Given the description of an element on the screen output the (x, y) to click on. 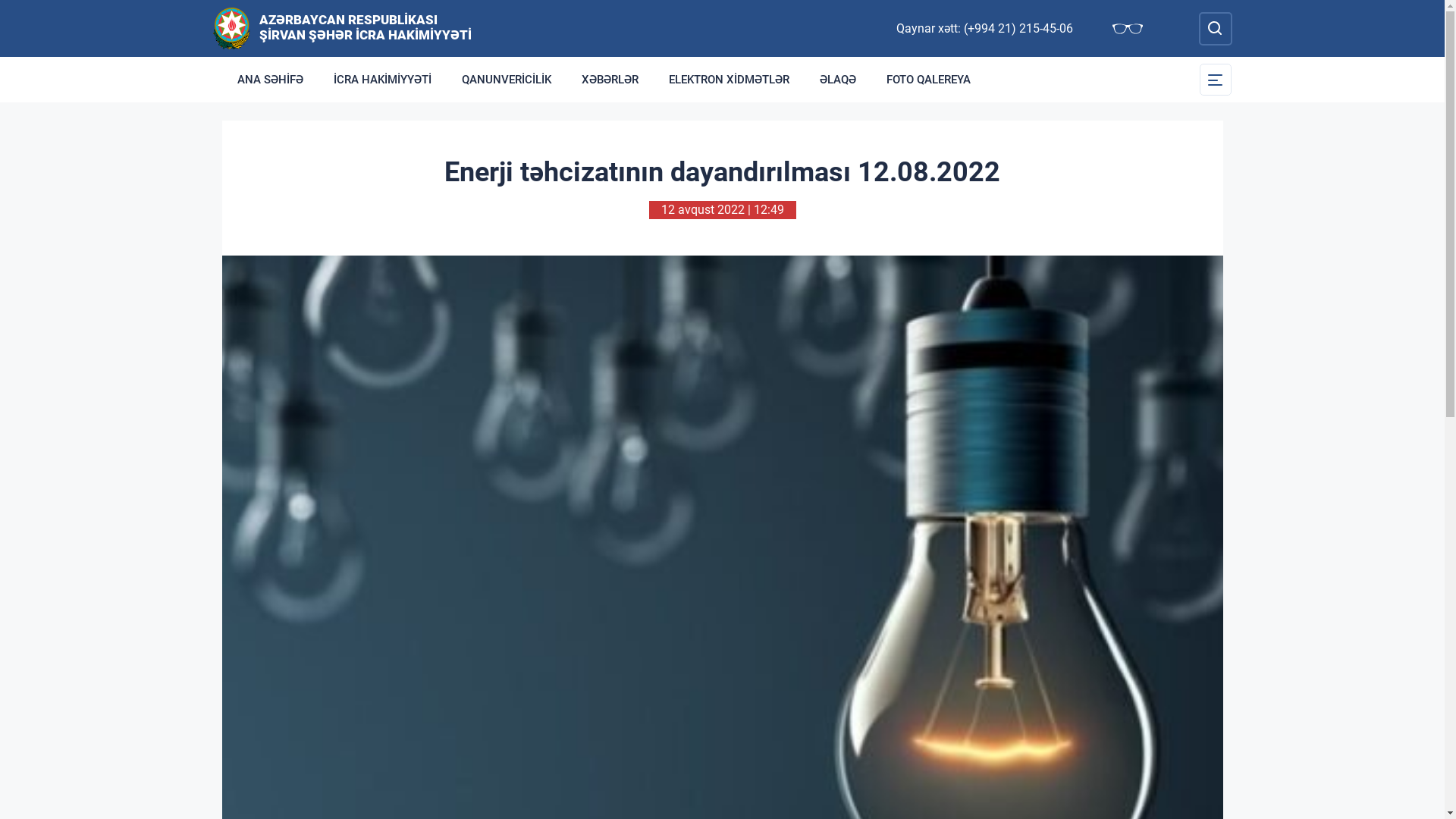
FOTO QALEREYA Element type: text (927, 79)
QANUNVERICILIK Element type: text (505, 79)
